Given the description of an element on the screen output the (x, y) to click on. 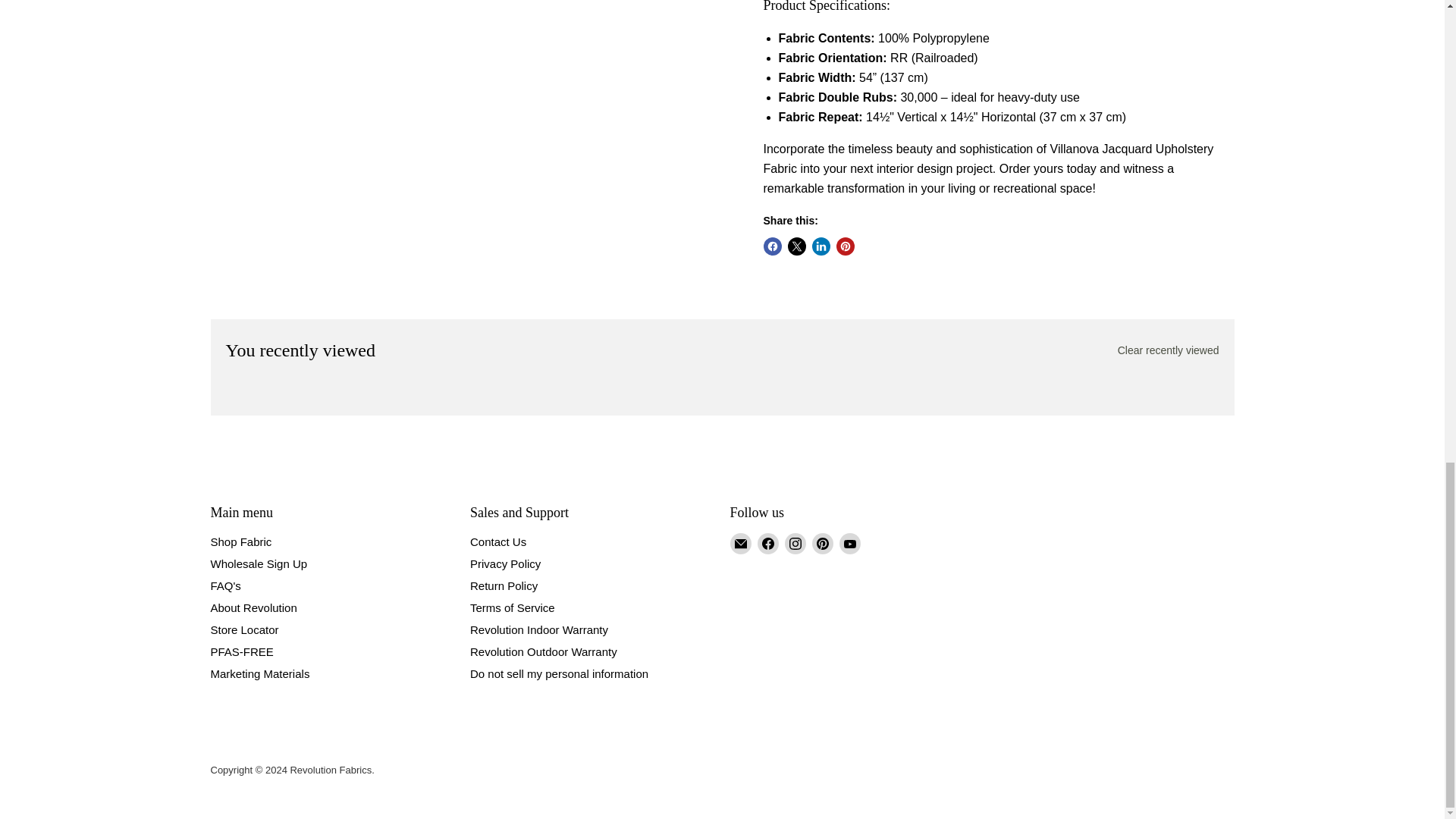
Email (740, 543)
Facebook (767, 543)
Instagram (794, 543)
Pinterest (821, 543)
YouTube (849, 543)
